Given the description of an element on the screen output the (x, y) to click on. 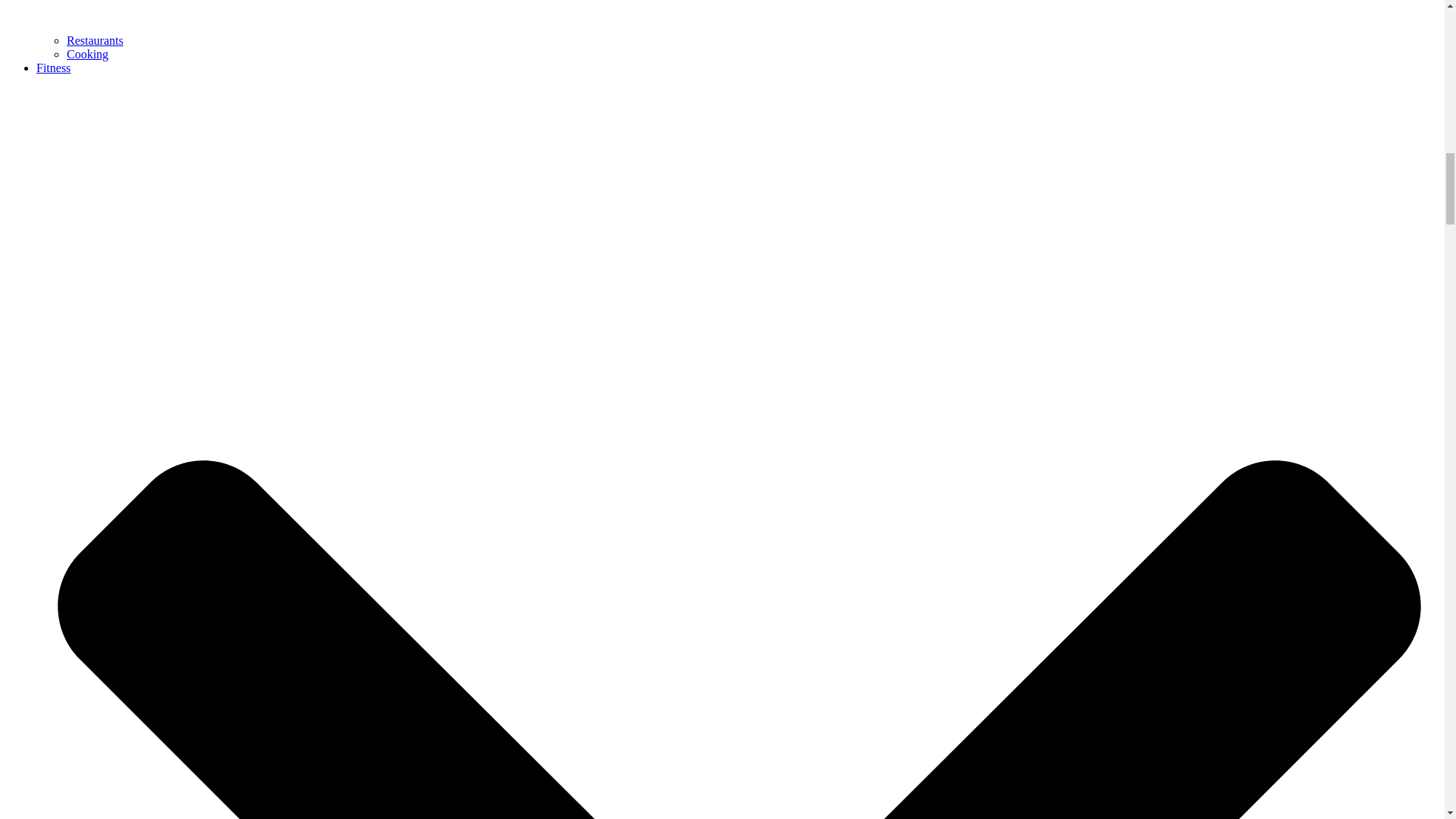
Fitness (52, 67)
Cooking (86, 53)
Restaurants (94, 40)
